Given the description of an element on the screen output the (x, y) to click on. 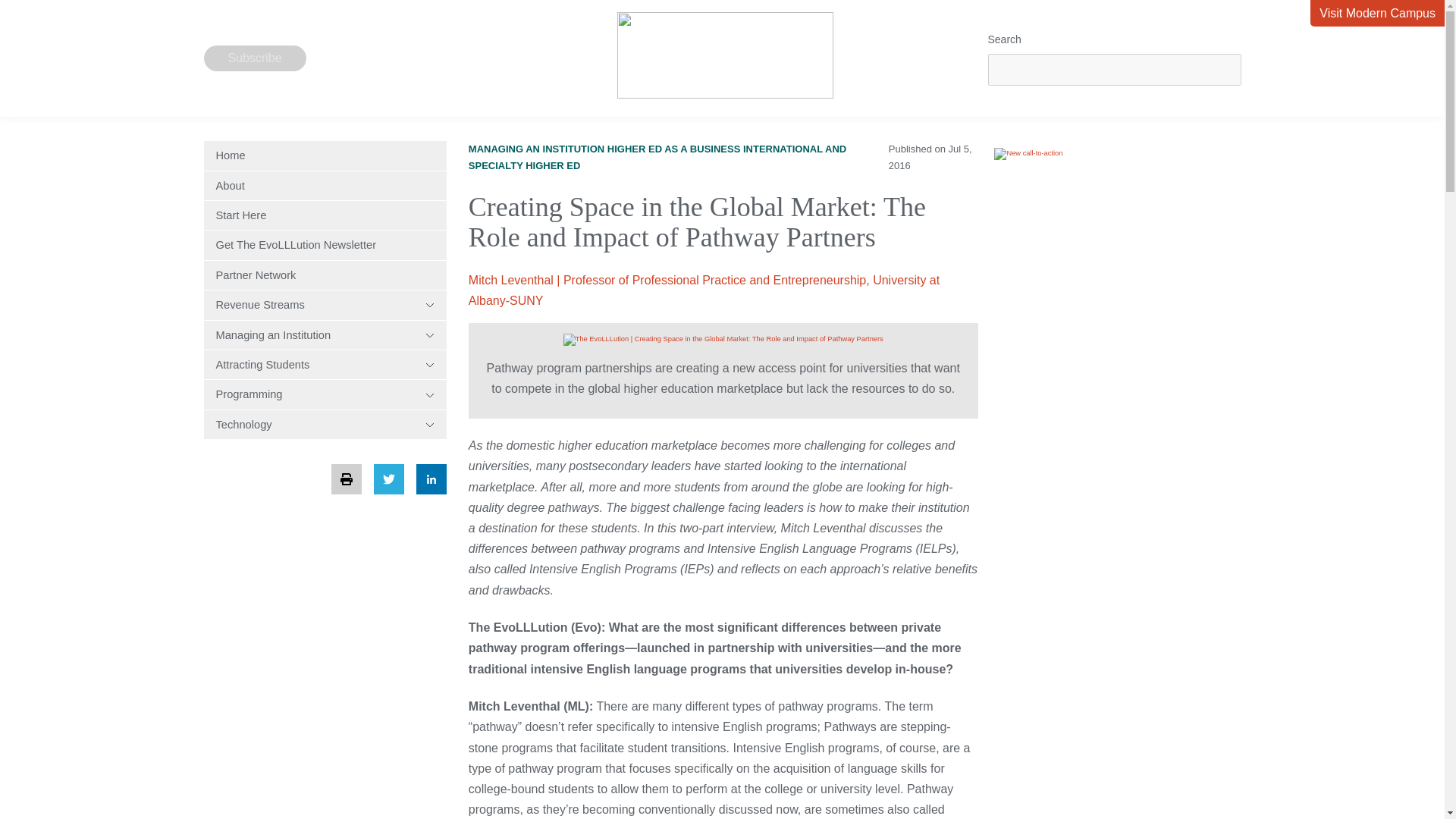
Attracting Students (324, 364)
Subscribe (254, 58)
Programming (324, 394)
Get The EvoLLLution Newsletter (324, 244)
Home (324, 154)
Managing an Institution (324, 335)
Start Here (324, 215)
About (324, 185)
Revenue Streams (324, 304)
Partner Network (324, 275)
